Given the description of an element on the screen output the (x, y) to click on. 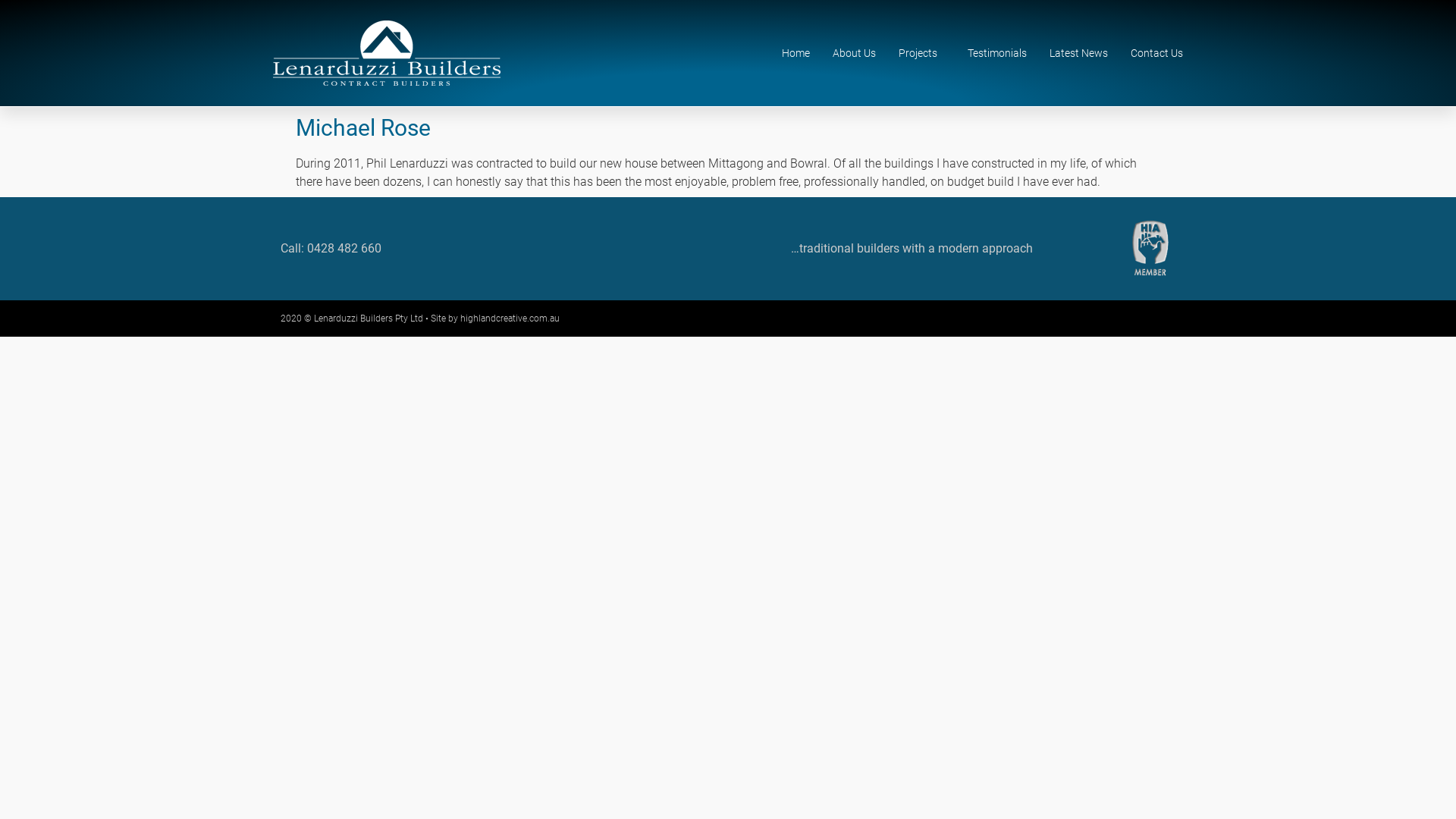
About Us Element type: text (853, 53)
Latest News Element type: text (1078, 53)
Projects Element type: text (921, 53)
Contact Us Element type: text (1156, 53)
Home Element type: text (795, 53)
Testimonials Element type: text (996, 53)
